Given the description of an element on the screen output the (x, y) to click on. 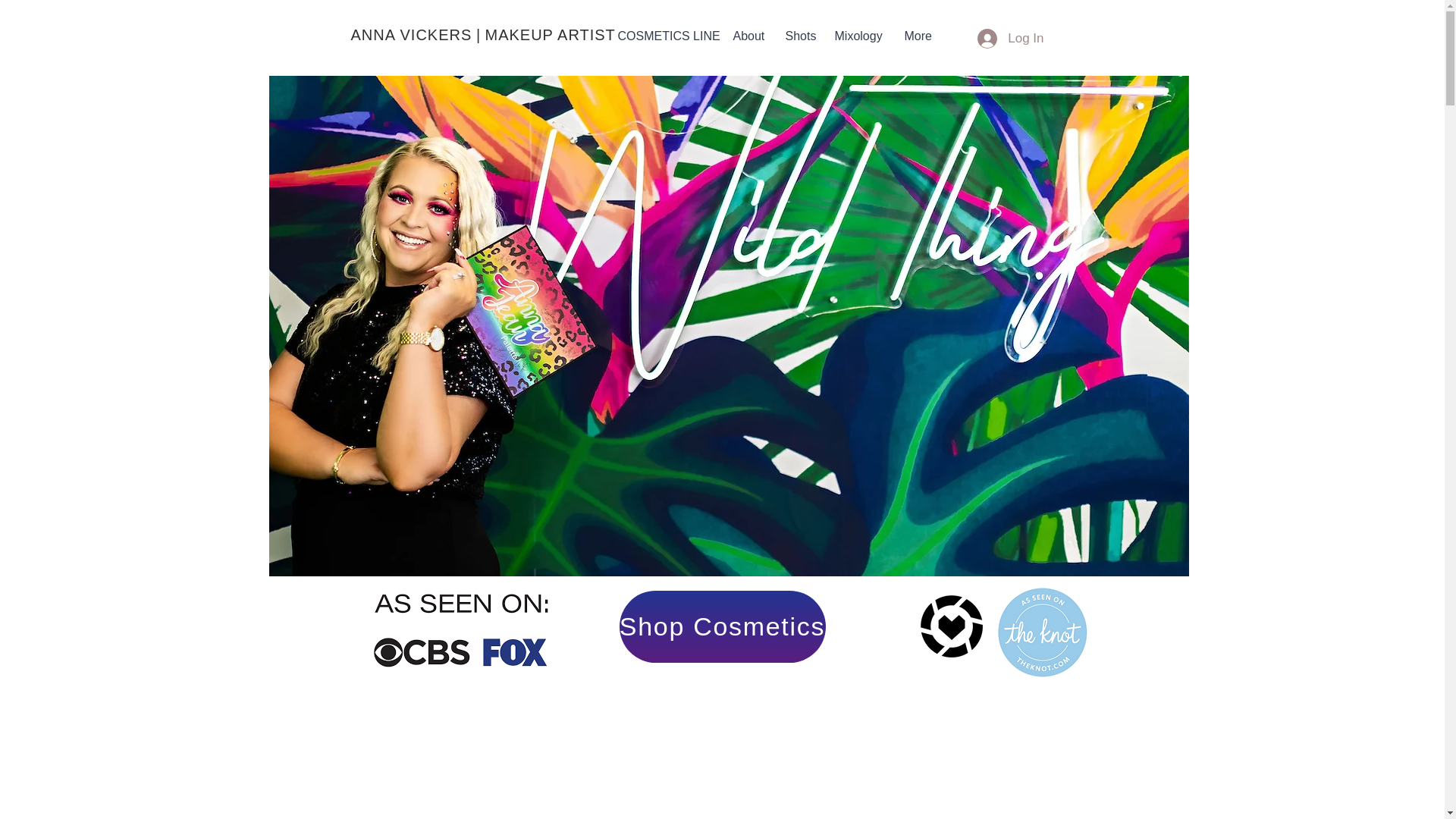
Shots (797, 36)
Log In (1010, 38)
Mixology (858, 36)
Shop Cosmetics (721, 626)
COSMETICS LINE (664, 36)
About (748, 36)
MAKEUP ARTIST (549, 34)
